Given the description of an element on the screen output the (x, y) to click on. 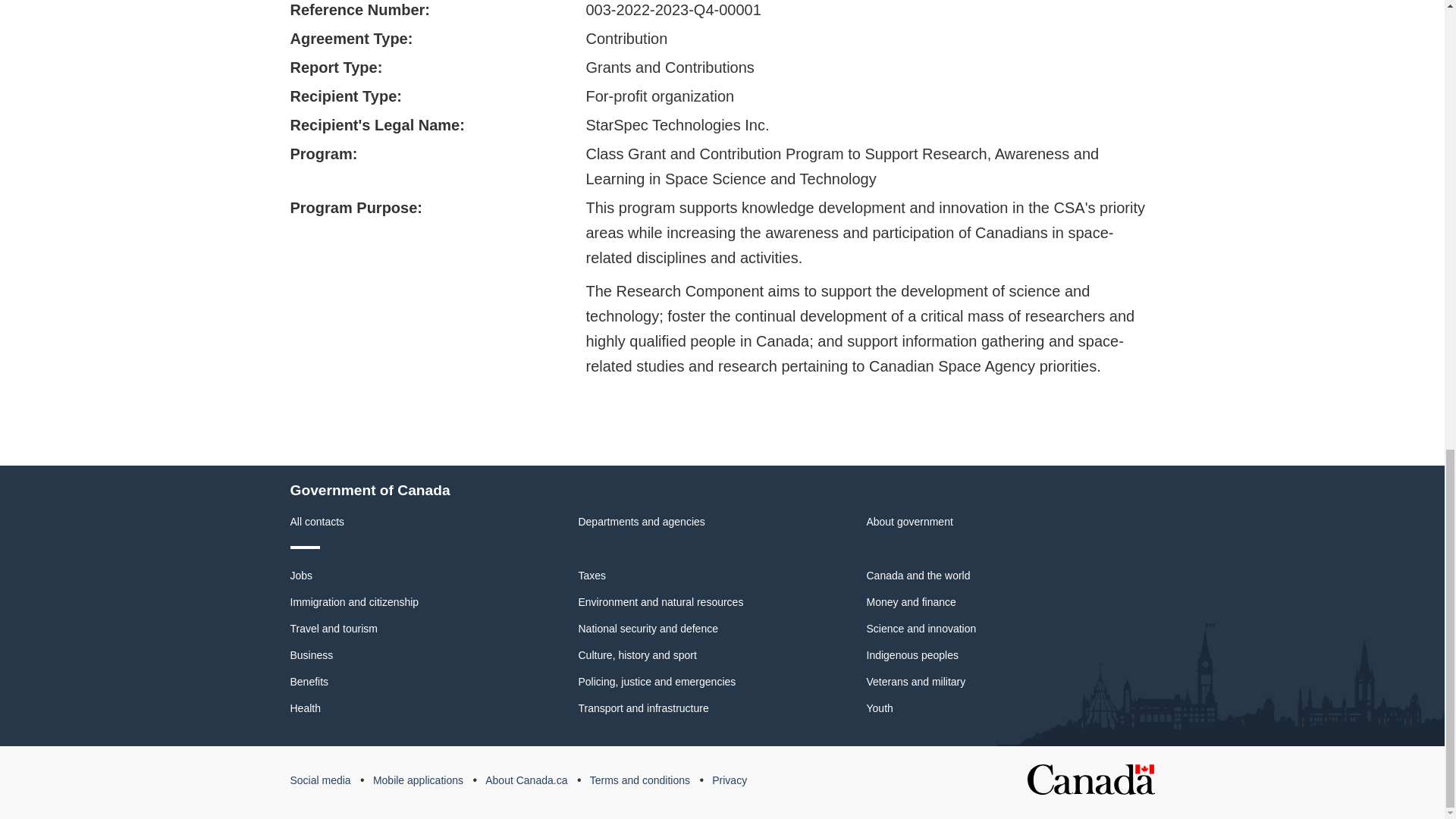
Departments and agencies (641, 521)
Taxes (591, 575)
Environment and natural resources (660, 601)
About government (909, 521)
Transport and infrastructure (642, 707)
Jobs (301, 575)
All contacts (316, 521)
Culture, history and sport (636, 654)
Business (311, 654)
Policing, justice and emergencies (656, 681)
Benefits (309, 681)
National security and defence (647, 628)
Travel and tourism (333, 628)
Immigration and citizenship (354, 601)
Health (304, 707)
